Given the description of an element on the screen output the (x, y) to click on. 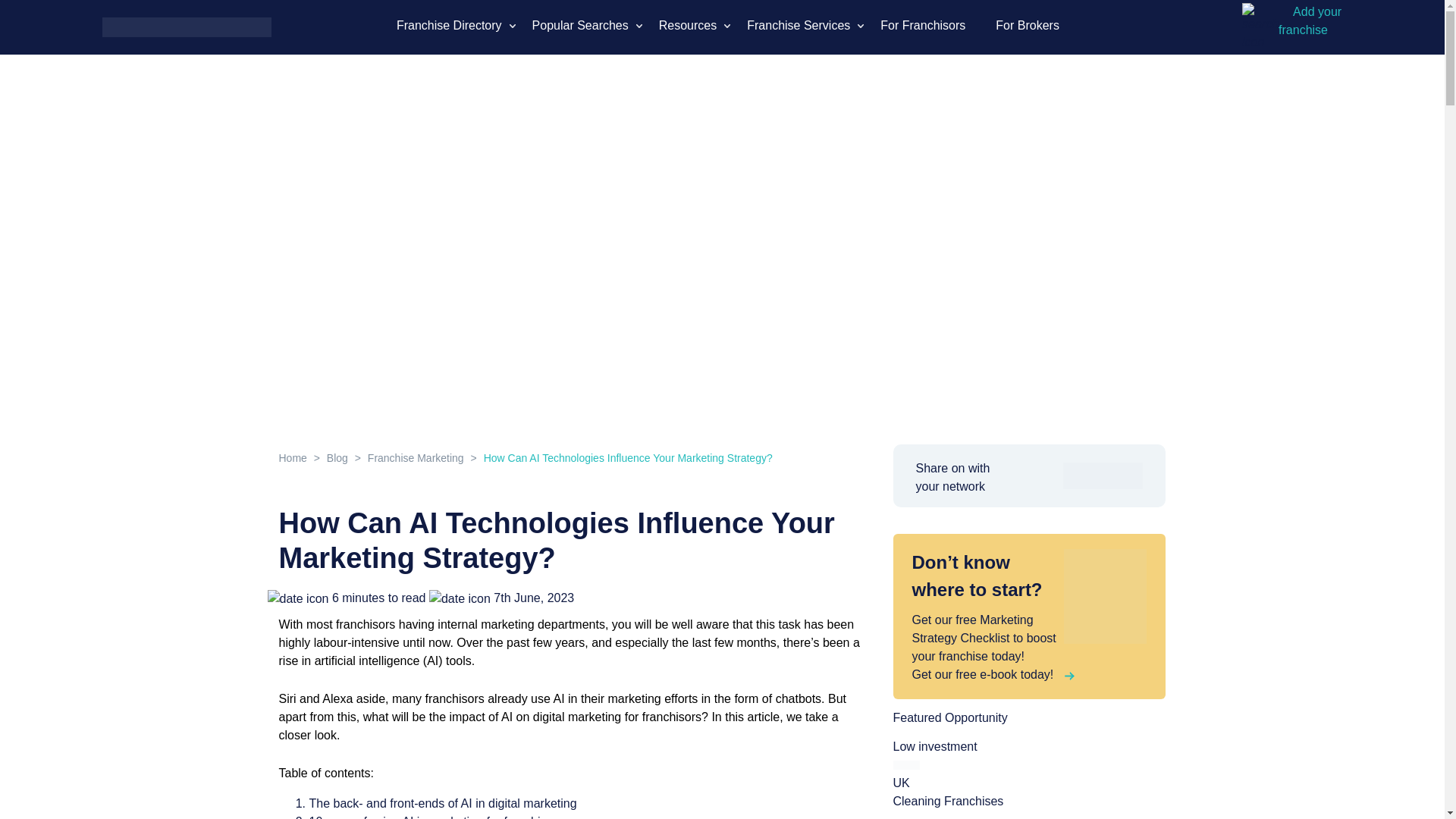
franchise fame logo (185, 26)
Franchise Fame Logo (185, 25)
Franchise Directory (449, 25)
Franchise Directory (449, 25)
